Given the description of an element on the screen output the (x, y) to click on. 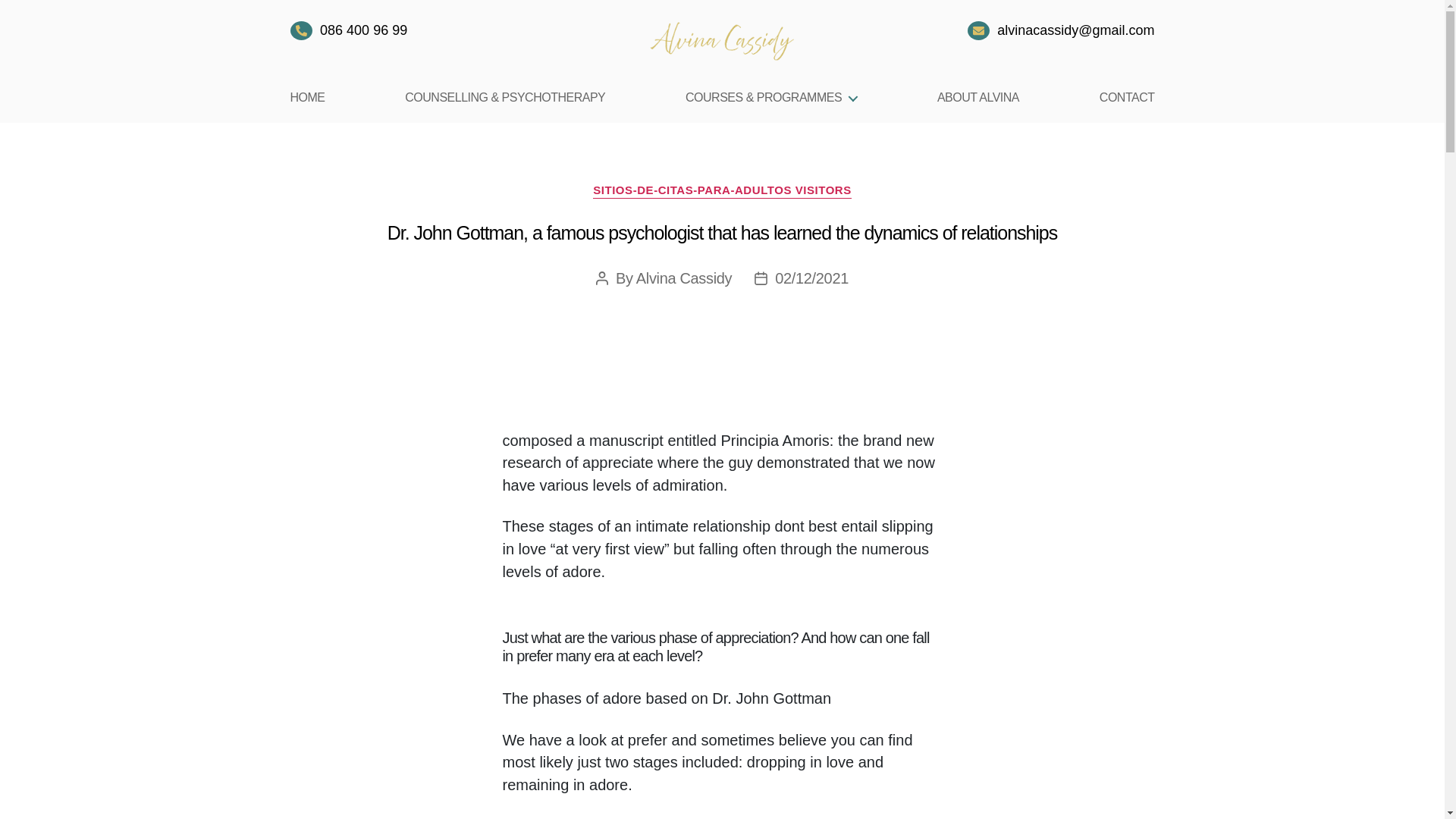
HOME (306, 97)
CONTACT (1126, 97)
ABOUT ALVINA (978, 97)
Alvina Cassidy (684, 278)
SITIOS-DE-CITAS-PARA-ADULTOS VISITORS (721, 191)
